Given the description of an element on the screen output the (x, y) to click on. 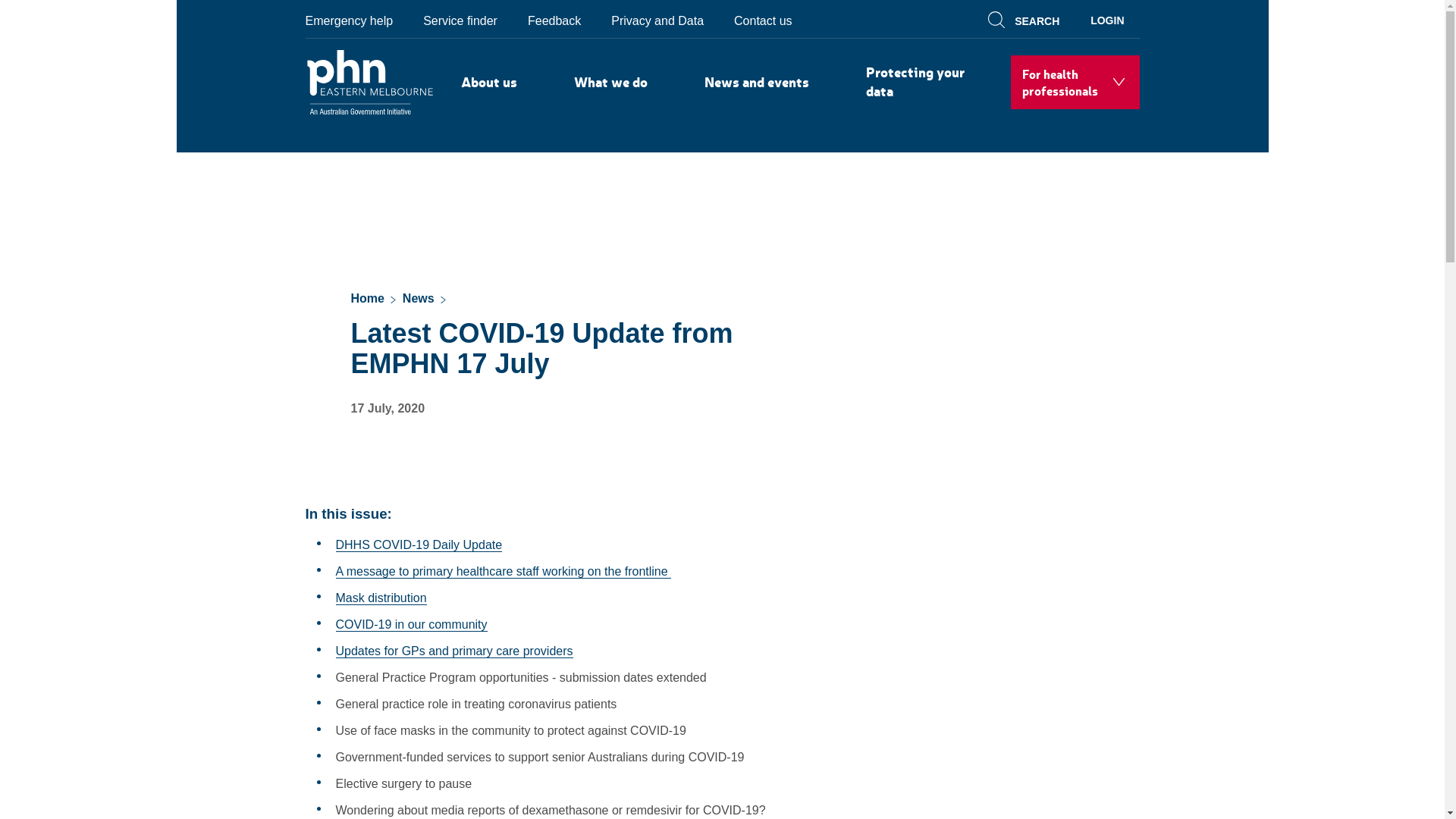
COVID-19 in our community Element type: text (410, 624)
Service finder Element type: text (459, 19)
SEARCH Element type: text (1025, 18)
Emergency help Element type: text (355, 19)
About us Element type: text (487, 81)
News and events Element type: text (756, 81)
Feedback Element type: text (554, 19)
Contact us Element type: text (762, 19)
For health professionals Element type: text (1074, 82)
What we do Element type: text (610, 81)
News Element type: text (418, 299)
Mask distribution Element type: text (380, 598)
Protecting your data Element type: text (921, 81)
LOGIN Element type: text (1107, 18)
DHHS COVID-19 Daily Update Element type: text (418, 545)
Home Element type: text (366, 299)
Updates for GPs and primary care providers Element type: text (453, 651)
Privacy and Data Element type: text (657, 19)
